Given the description of an element on the screen output the (x, y) to click on. 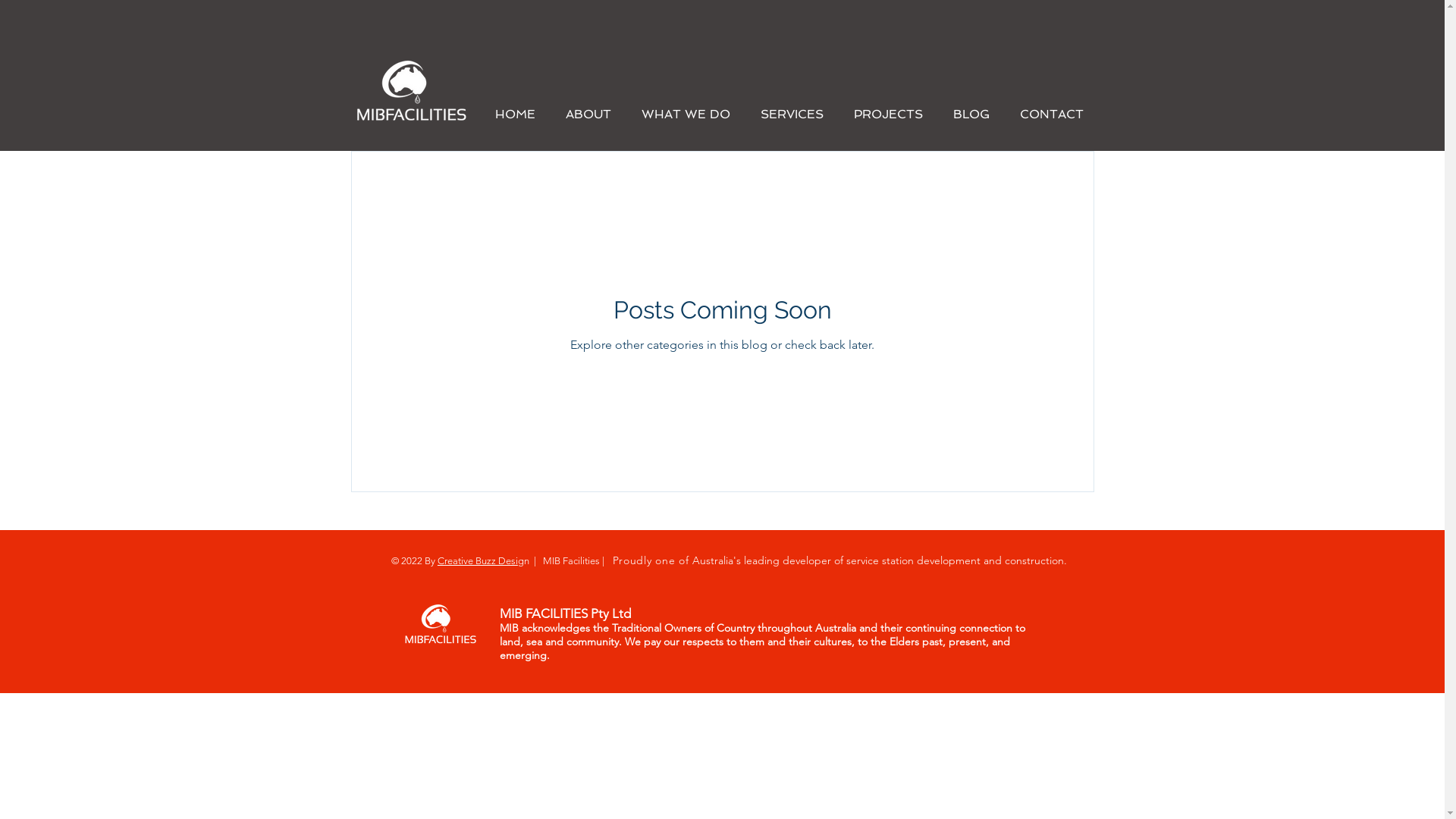
Creative Buzz Desi Element type: text (477, 560)
ABOUT Element type: text (588, 113)
HOME Element type: text (514, 113)
CONTACT Element type: text (1051, 113)
WHAT WE DO Element type: text (685, 113)
PROJECTS Element type: text (888, 113)
Petrol Station Builders | Construction | Shop Fit Out Element type: hover (414, 90)
gn Element type: text (523, 560)
BLOG Element type: text (970, 113)
SERVICES Element type: text (790, 113)
